Given the description of an element on the screen output the (x, y) to click on. 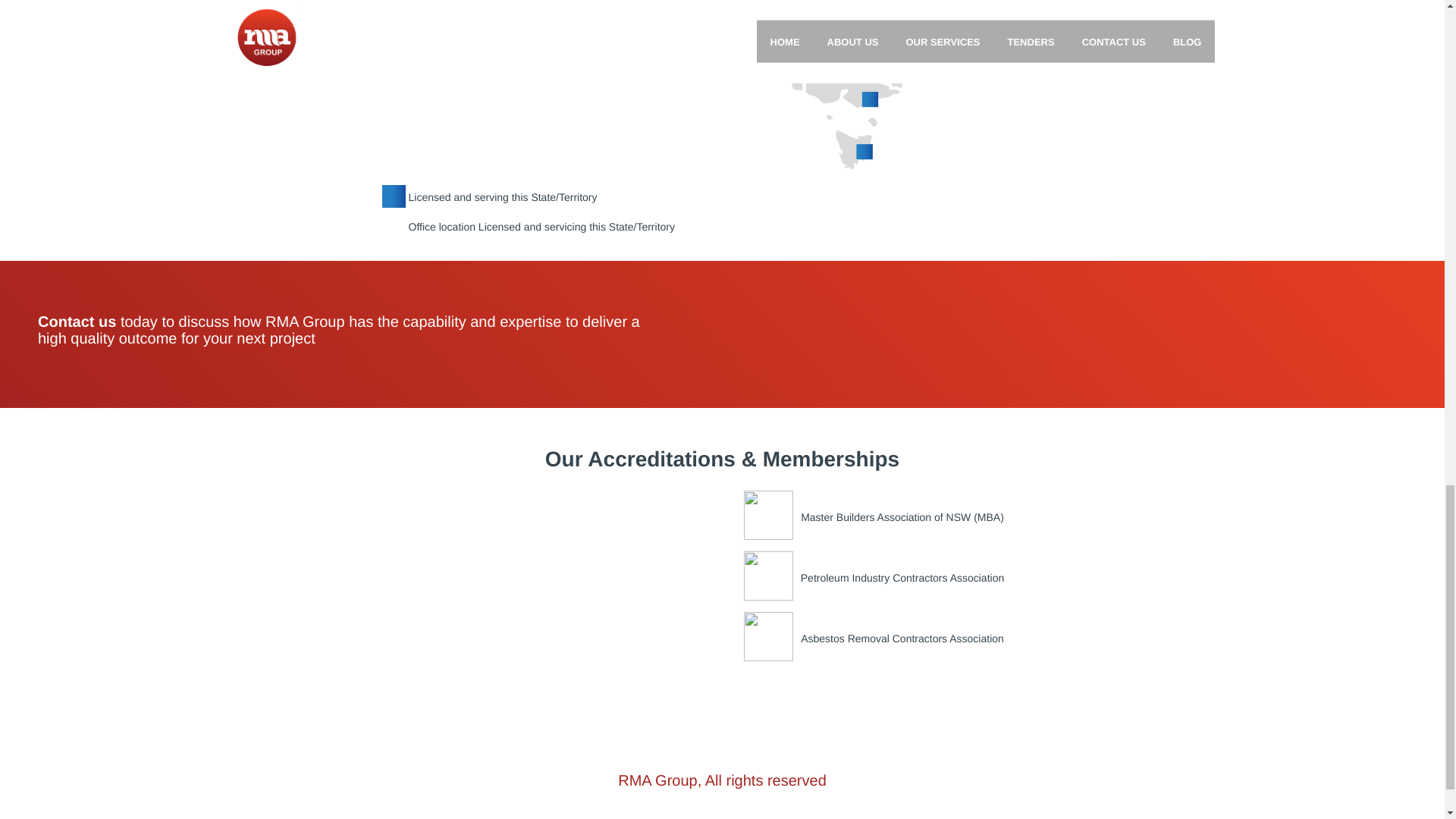
Contact us (76, 321)
